Given the description of an element on the screen output the (x, y) to click on. 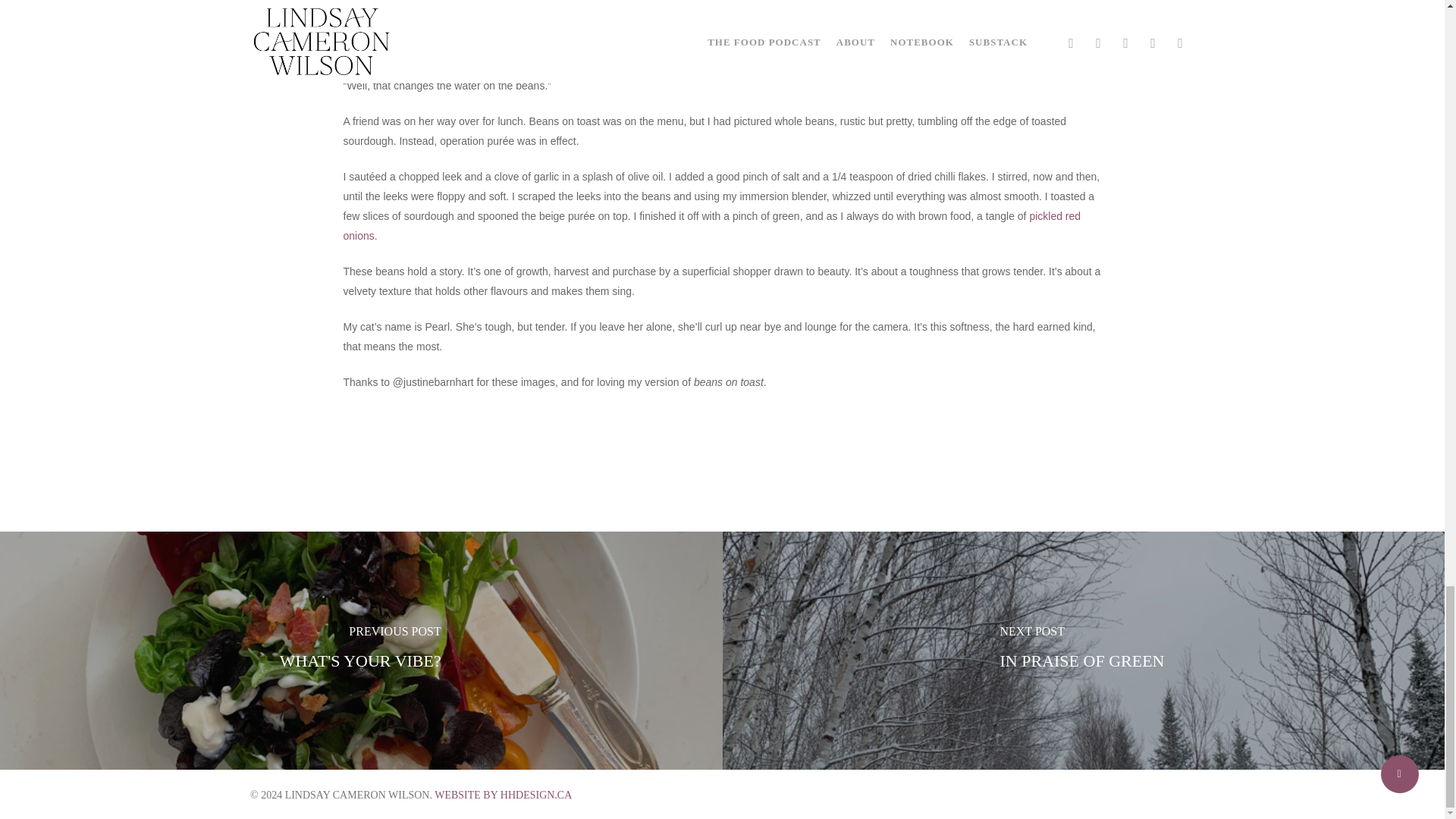
pickled red onions (711, 225)
WEBSITE BY HHDESIGN.CA (502, 794)
